Given the description of an element on the screen output the (x, y) to click on. 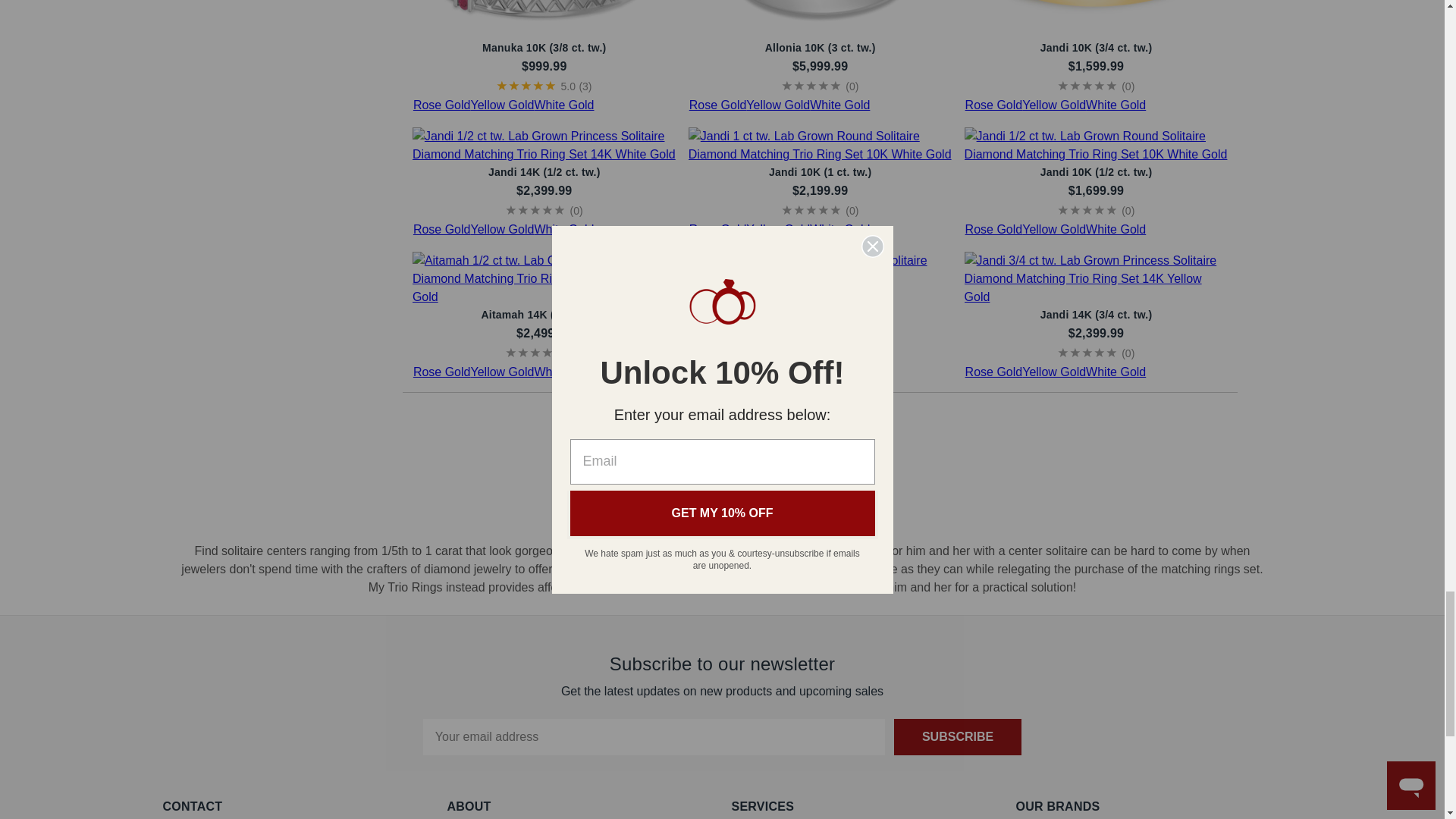
Subscribe (957, 737)
